Given the description of an element on the screen output the (x, y) to click on. 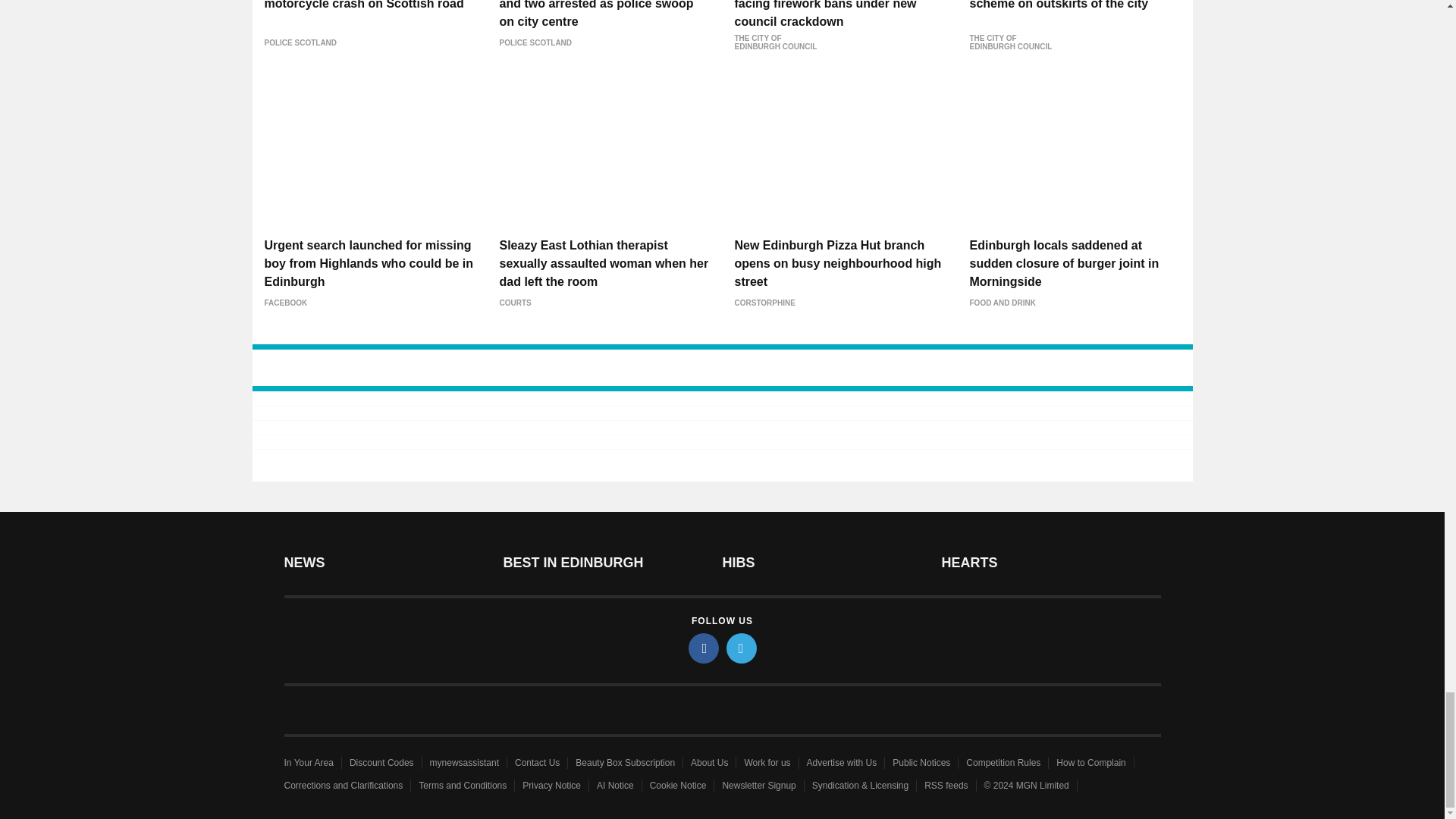
twitter (741, 648)
facebook (703, 648)
